Given the description of an element on the screen output the (x, y) to click on. 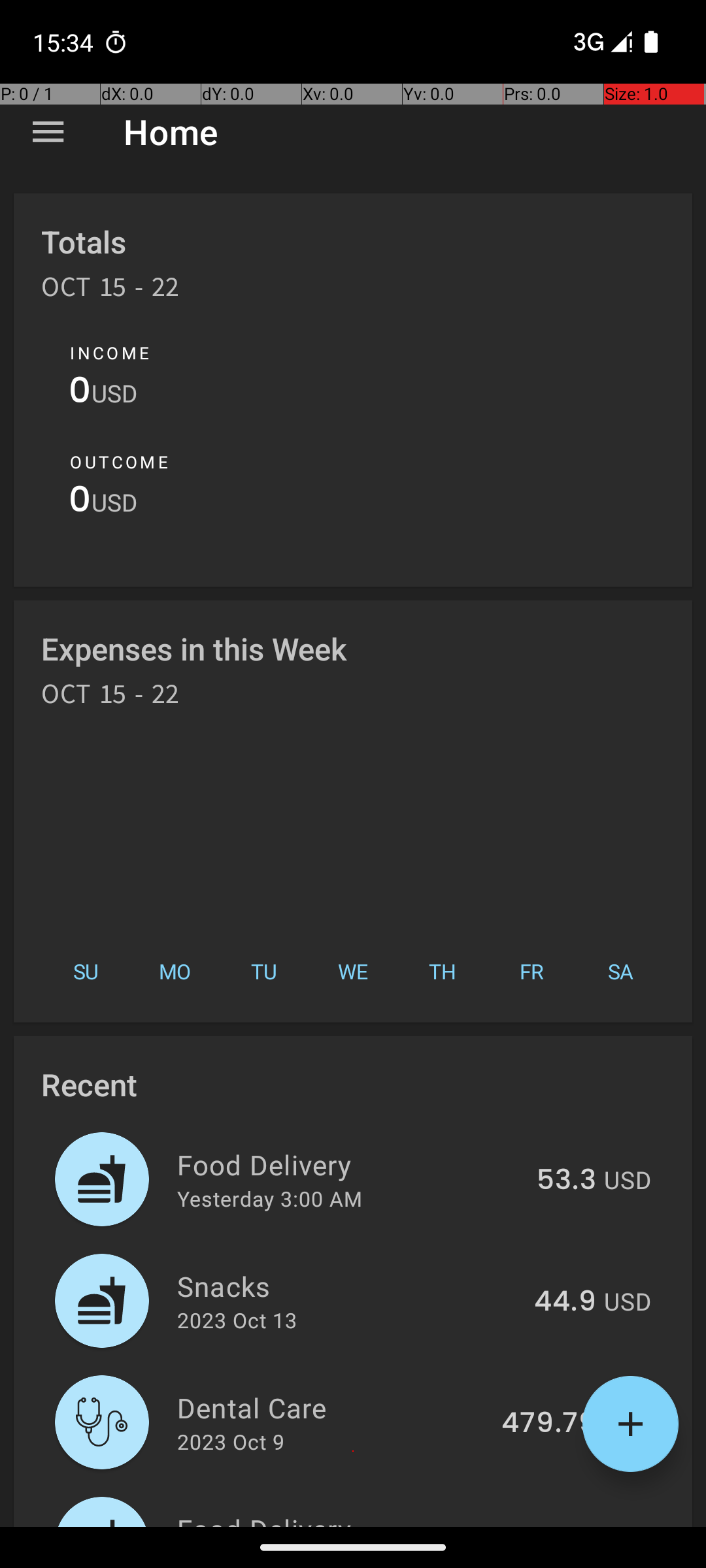
Food Delivery Element type: android.widget.TextView (349, 1164)
Yesterday 3:00 AM Element type: android.widget.TextView (269, 1198)
53.3 Element type: android.widget.TextView (566, 1180)
Snacks Element type: android.widget.TextView (347, 1285)
44.9 Element type: android.widget.TextView (564, 1301)
479.79 Element type: android.widget.TextView (548, 1423)
39.73 Element type: android.widget.TextView (557, 1524)
